Given the description of an element on the screen output the (x, y) to click on. 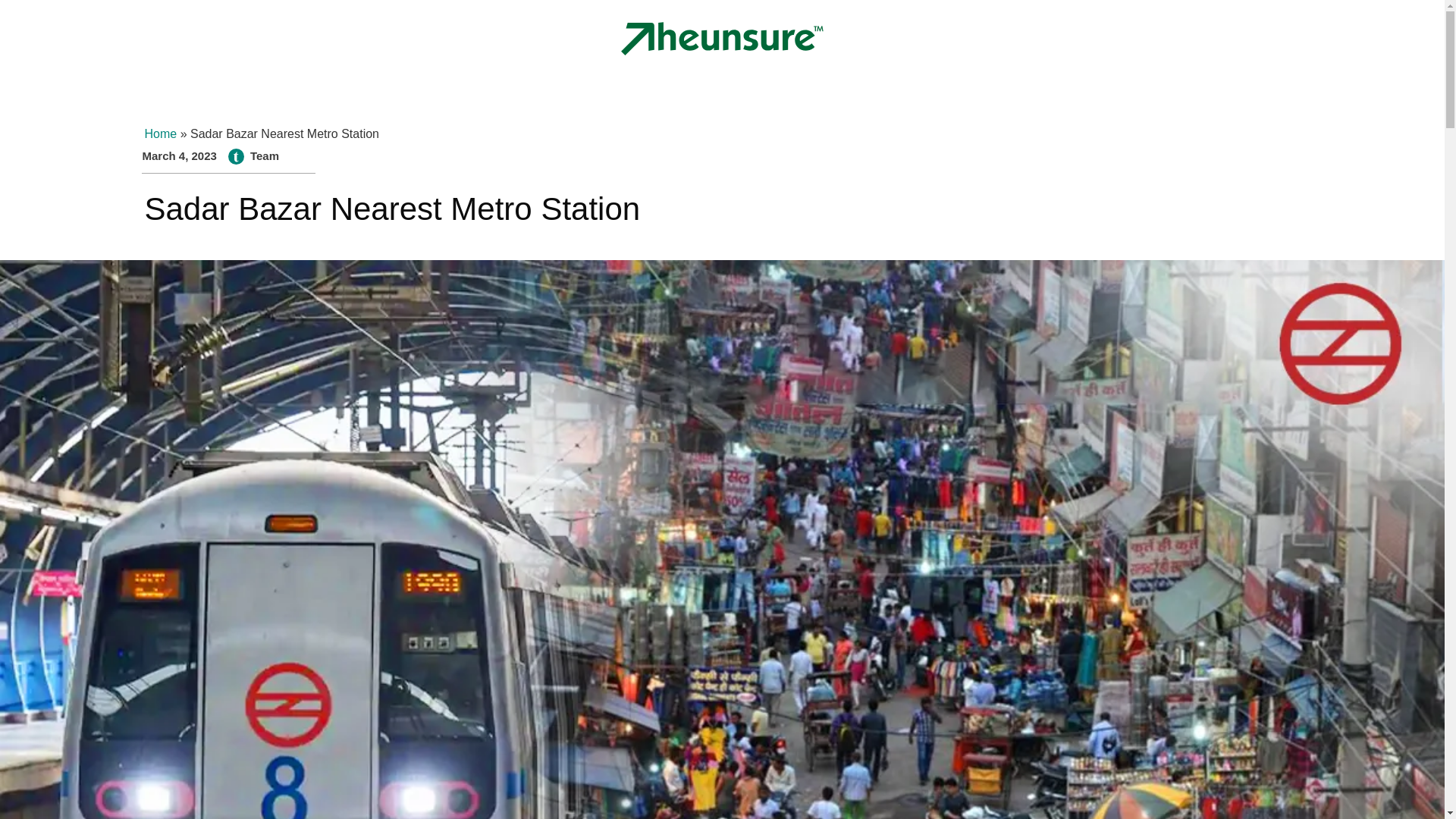
Home (160, 133)
